Given the description of an element on the screen output the (x, y) to click on. 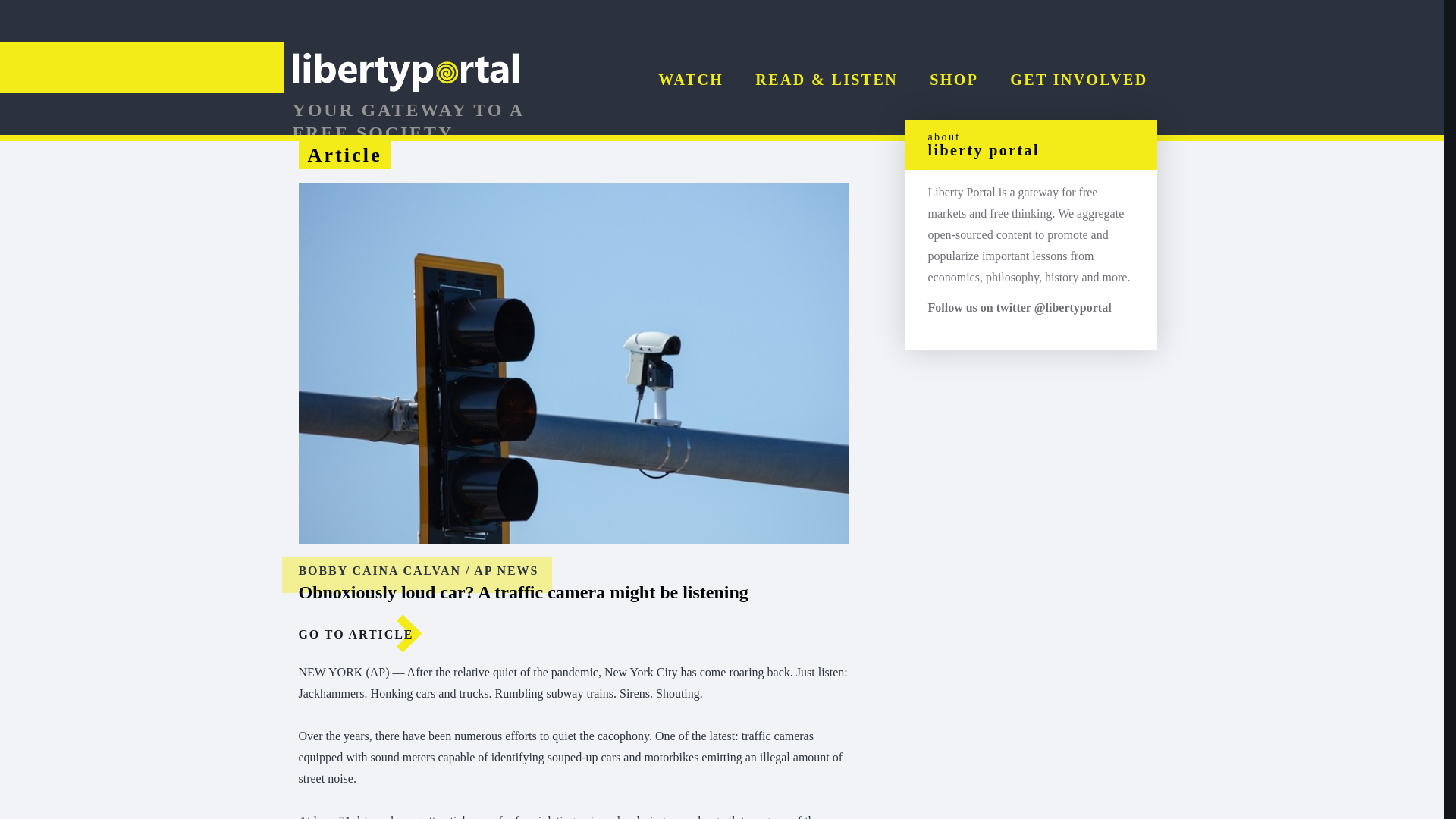
WATCH (690, 79)
SHOP (954, 79)
GET INVOLVED (1078, 79)
